Given the description of an element on the screen output the (x, y) to click on. 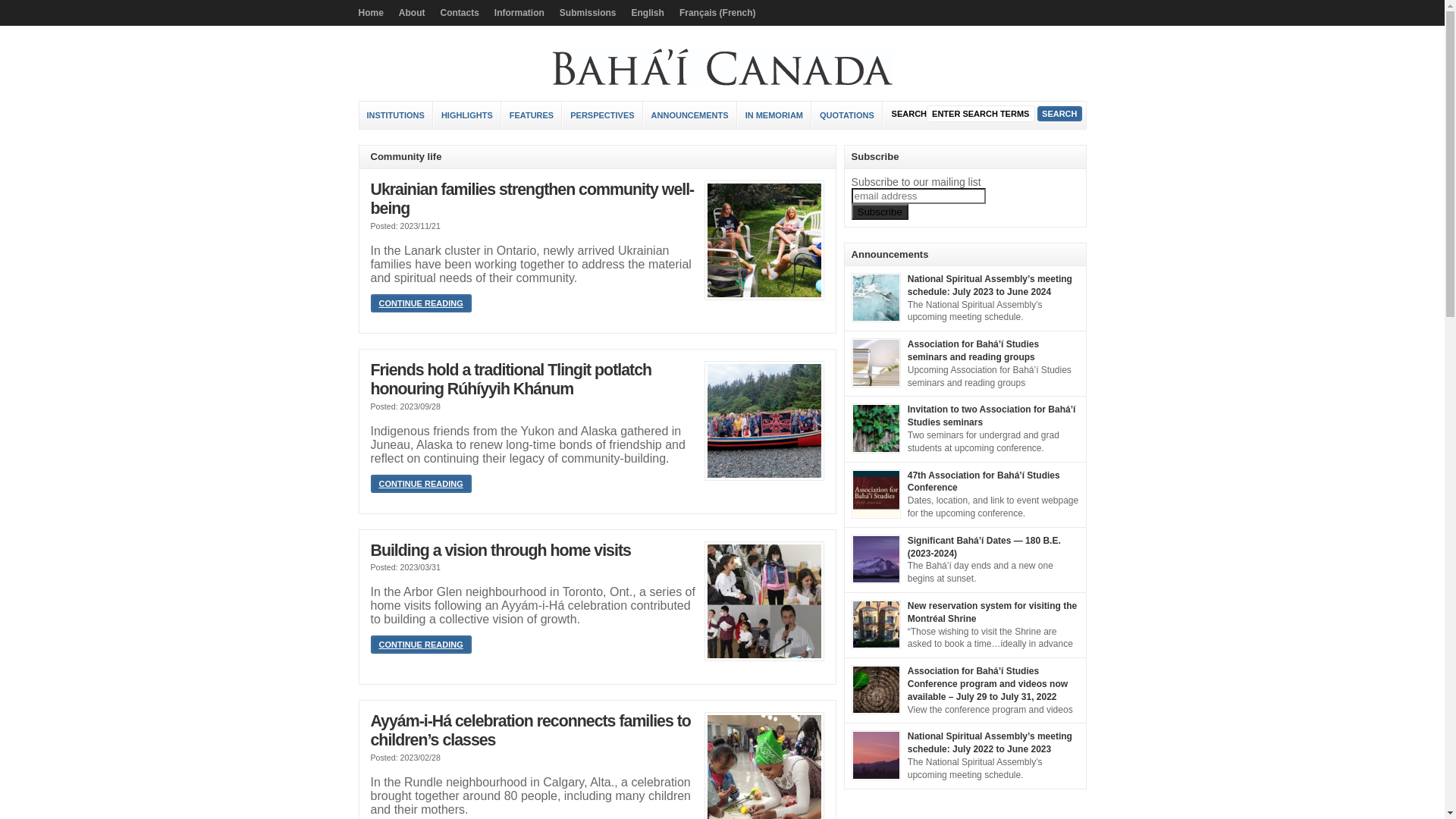
PERSPECTIVES Element type: text (602, 114)
HIGHLIGHTS Element type: text (467, 114)
CONTINUE READING Element type: text (420, 644)
Information Element type: text (519, 12)
Ukrainian families strengthen community well-being Element type: text (531, 199)
QUOTATIONS Element type: text (847, 114)
CONTINUE READING Element type: text (420, 303)
CONTINUE READING Element type: text (420, 483)
IN MEMORIAM Element type: text (774, 114)
Submissions Element type: text (588, 12)
English Element type: text (647, 12)
ANNOUNCEMENTS Element type: text (690, 114)
Building a vision through home visits Element type: text (500, 550)
Building a vision through home visits Element type: hover (763, 601)
Subscribe Element type: text (879, 211)
Ukrainian families strengthen community well-being Element type: hover (763, 240)
search Element type: text (1059, 113)
FEATURES Element type: text (531, 114)
About Element type: text (412, 12)
Contacts Element type: text (459, 12)
INSTITUTIONS Element type: text (396, 114)
Home Element type: text (373, 12)
